Given the description of an element on the screen output the (x, y) to click on. 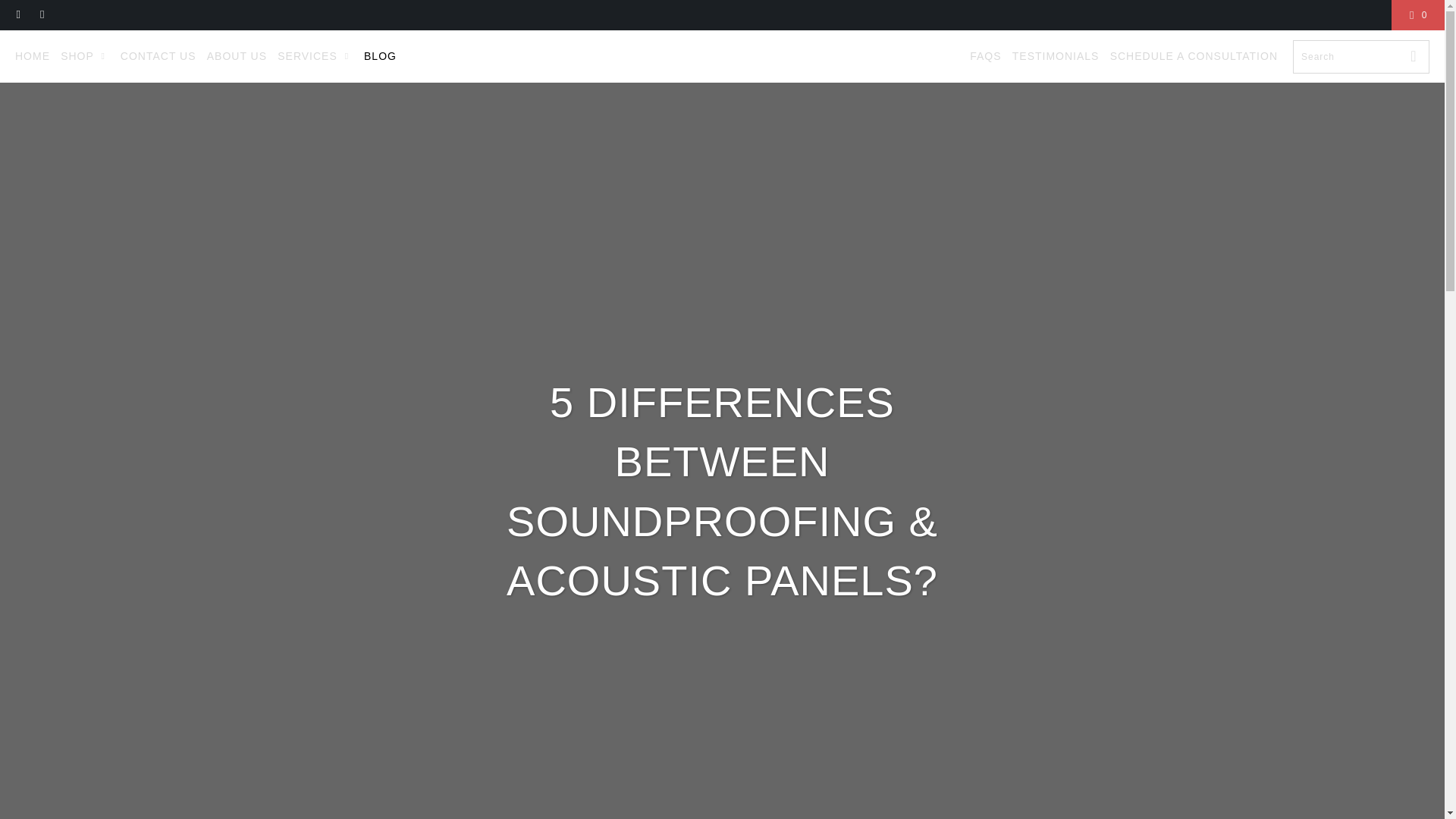
CONTACT US (158, 56)
ABOUT US (236, 56)
HOME (31, 56)
SERVICES (315, 55)
John Hunter Acoustics on Instagram (41, 14)
John Hunter Acoustics on Facebook (17, 14)
SHOP (85, 55)
